Given the description of an element on the screen output the (x, y) to click on. 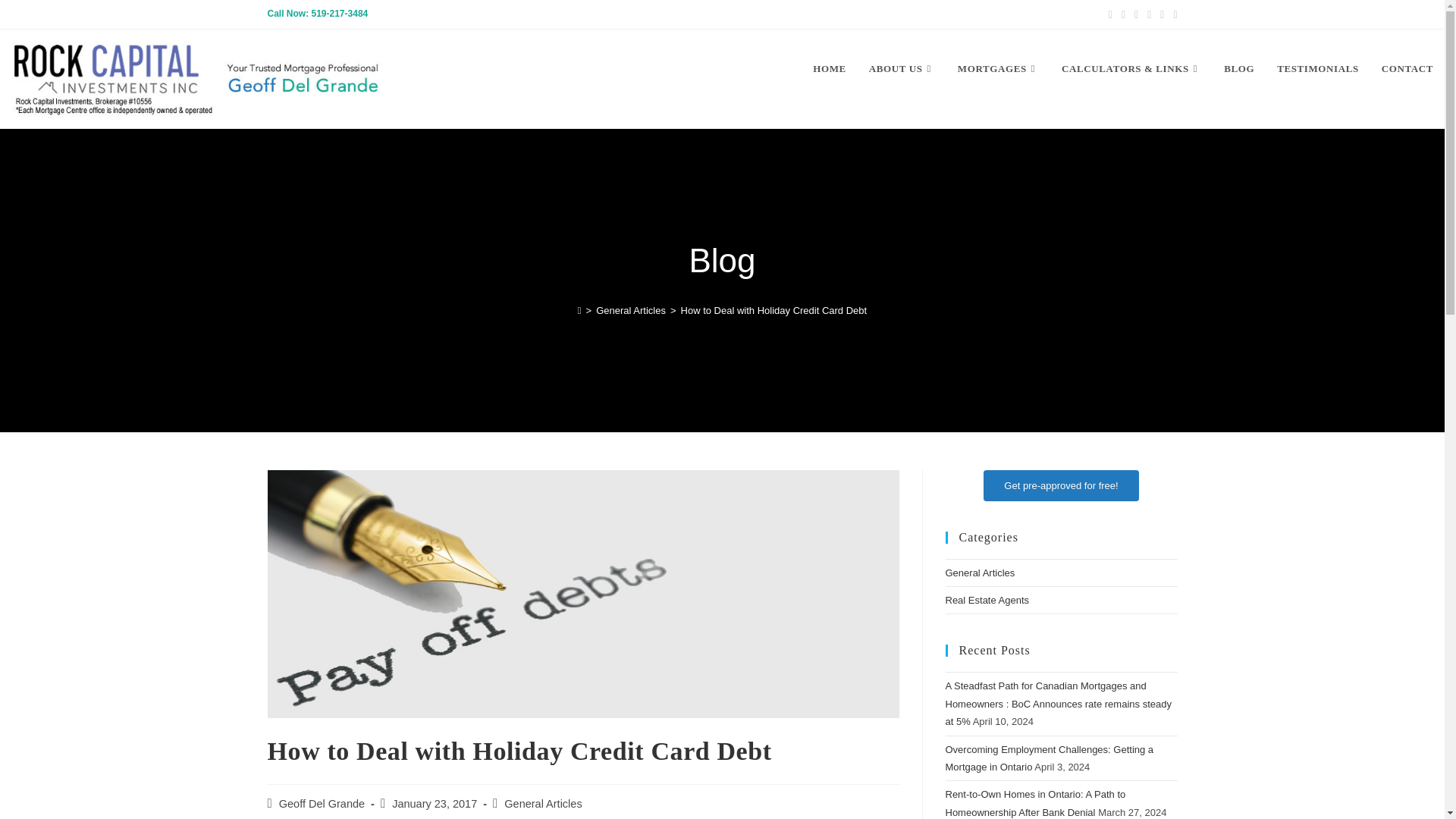
Geoff Del Grande (322, 803)
Posts by Geoff Del Grande (322, 803)
HOME (829, 68)
TESTIMONIALS (1317, 68)
ABOUT US (901, 68)
MORTGAGES (997, 68)
How to Deal with Holiday Credit Card Debt (774, 310)
General Articles (541, 803)
BLOG (1238, 68)
General Articles (630, 310)
